Given the description of an element on the screen output the (x, y) to click on. 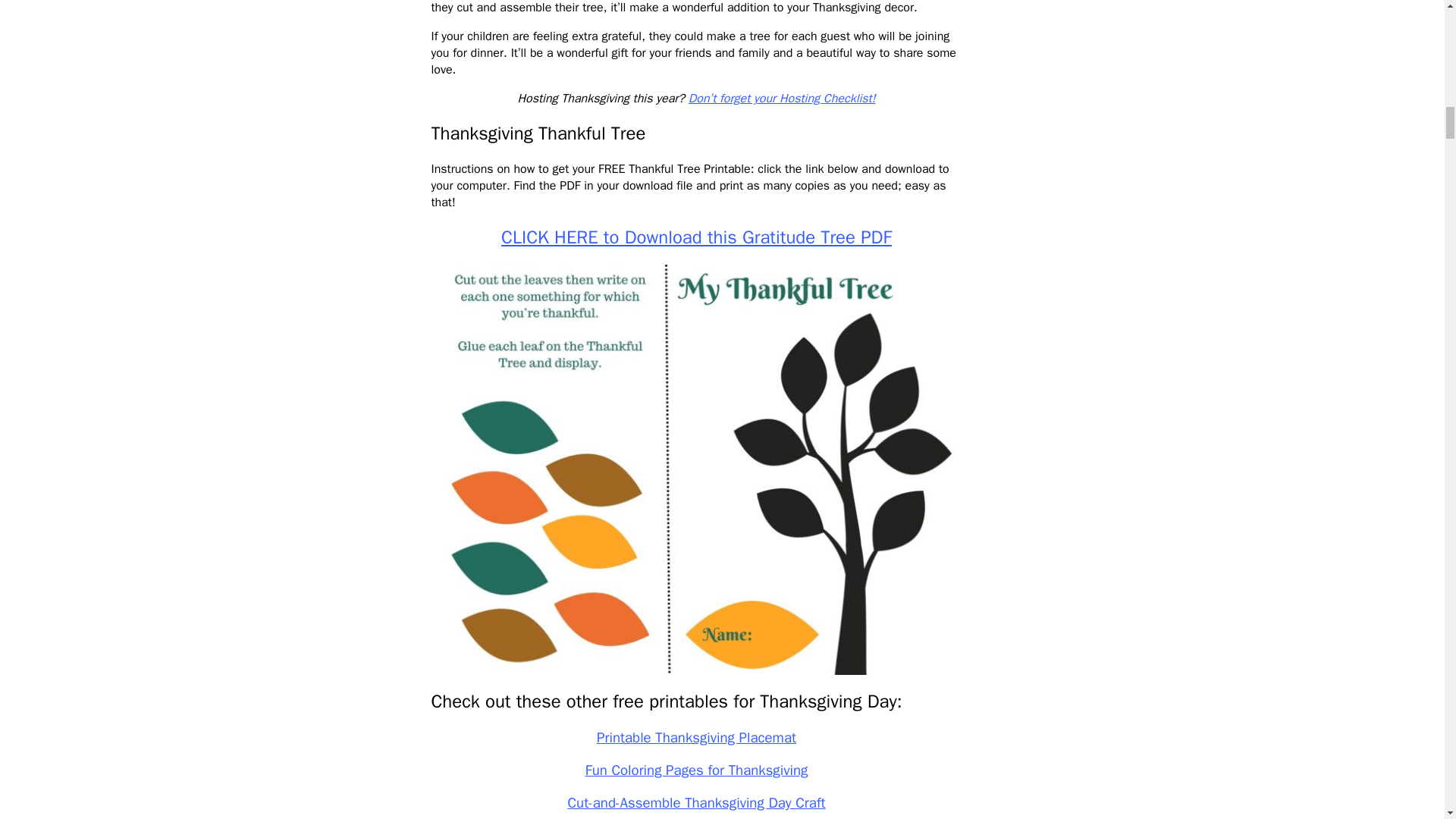
Printable Thanksgiving Placemat (696, 737)
Cut-and-Assemble Thanksgiving Day Craft (696, 802)
CLICK HERE to Download this Gratitude Tree PDF (695, 237)
Fun Coloring Pages for Thanksgiving (696, 770)
